Given the description of an element on the screen output the (x, y) to click on. 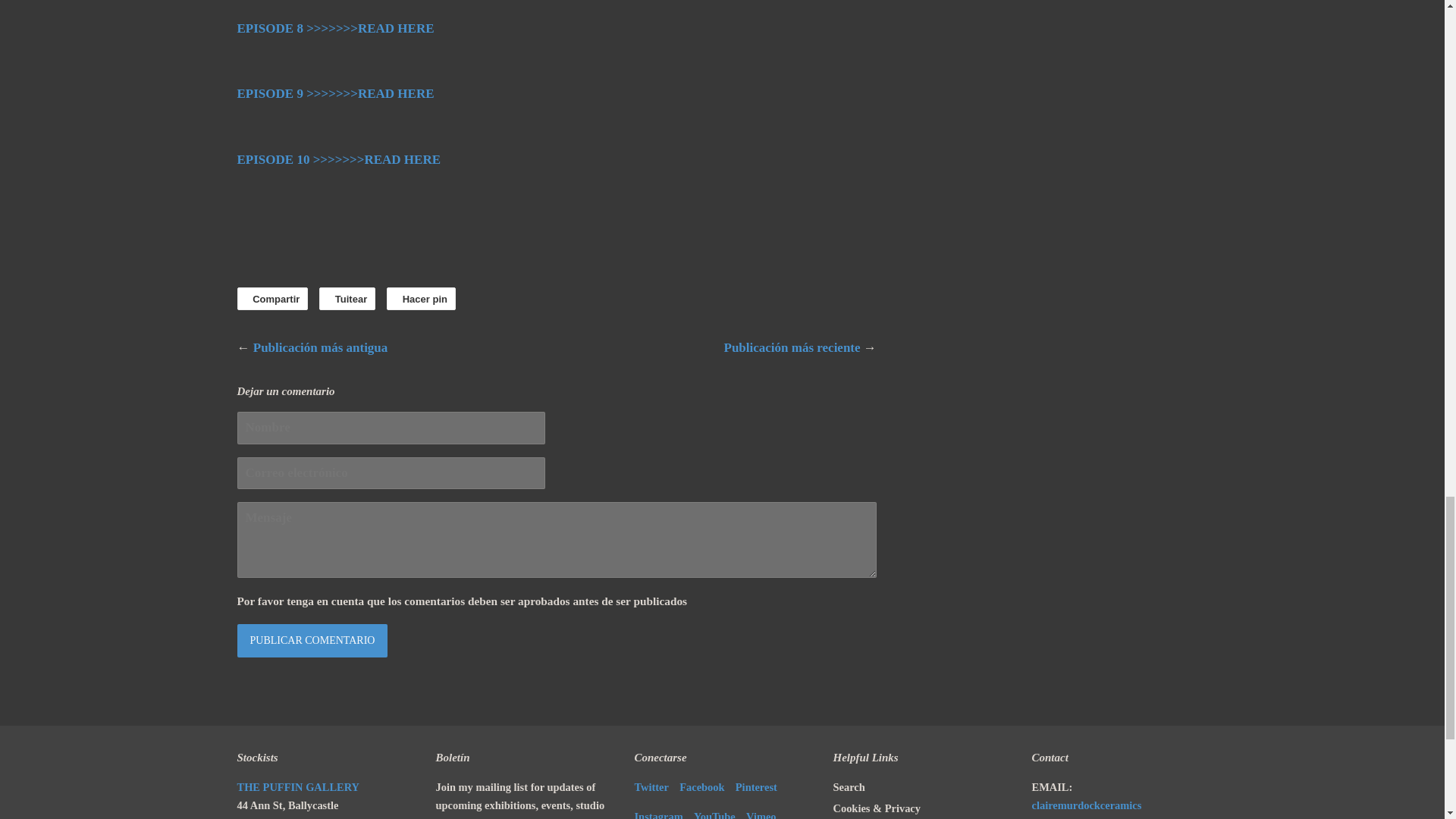
Publicar comentario (311, 640)
Episode 8 (334, 28)
Episode 10 (338, 159)
Episode 9 (334, 93)
